Given the description of an element on the screen output the (x, y) to click on. 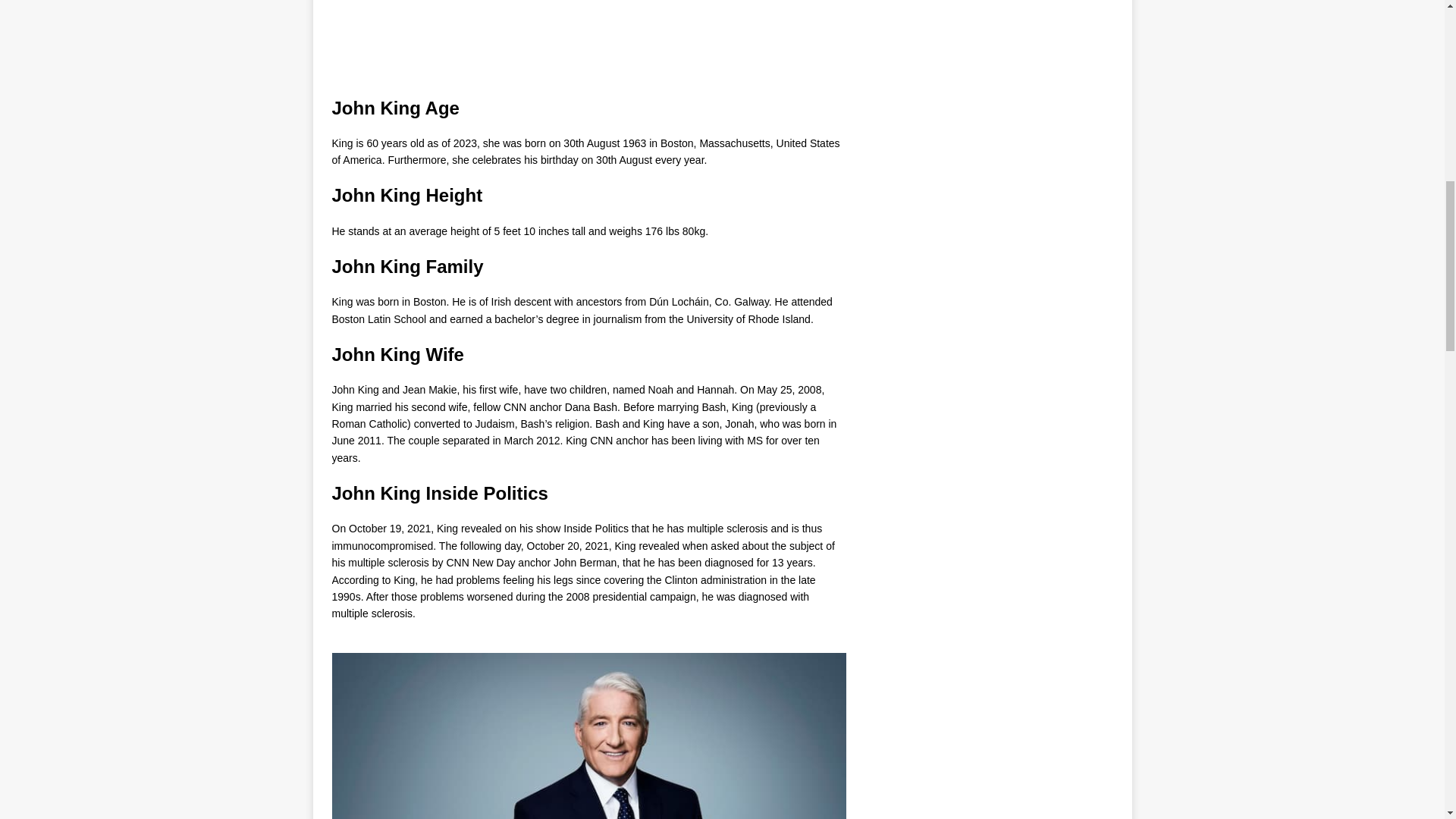
Advertisement (588, 48)
